Given the description of an element on the screen output the (x, y) to click on. 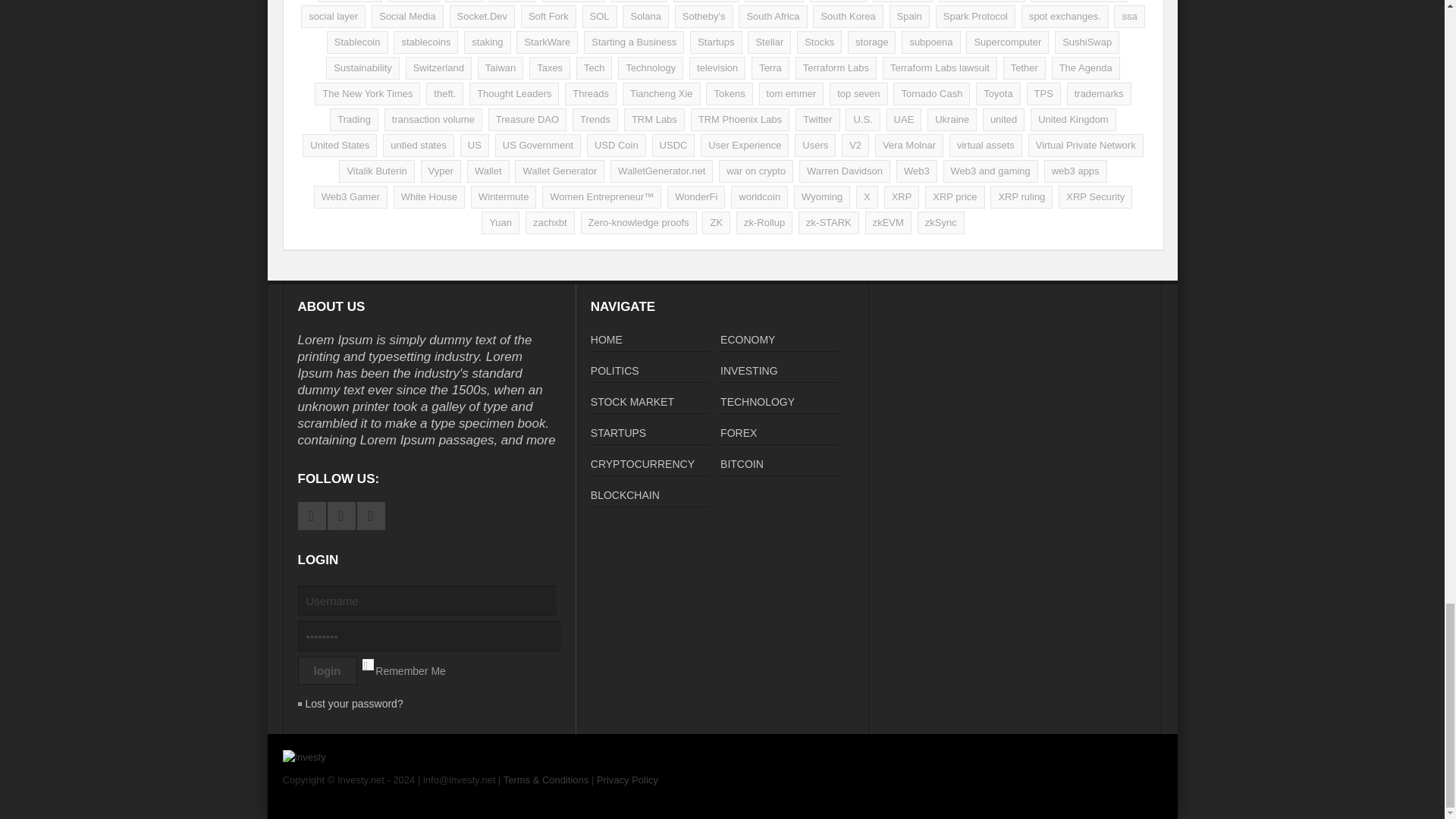
Password (436, 635)
forever (366, 663)
login (326, 670)
Username (434, 600)
